Given the description of an element on the screen output the (x, y) to click on. 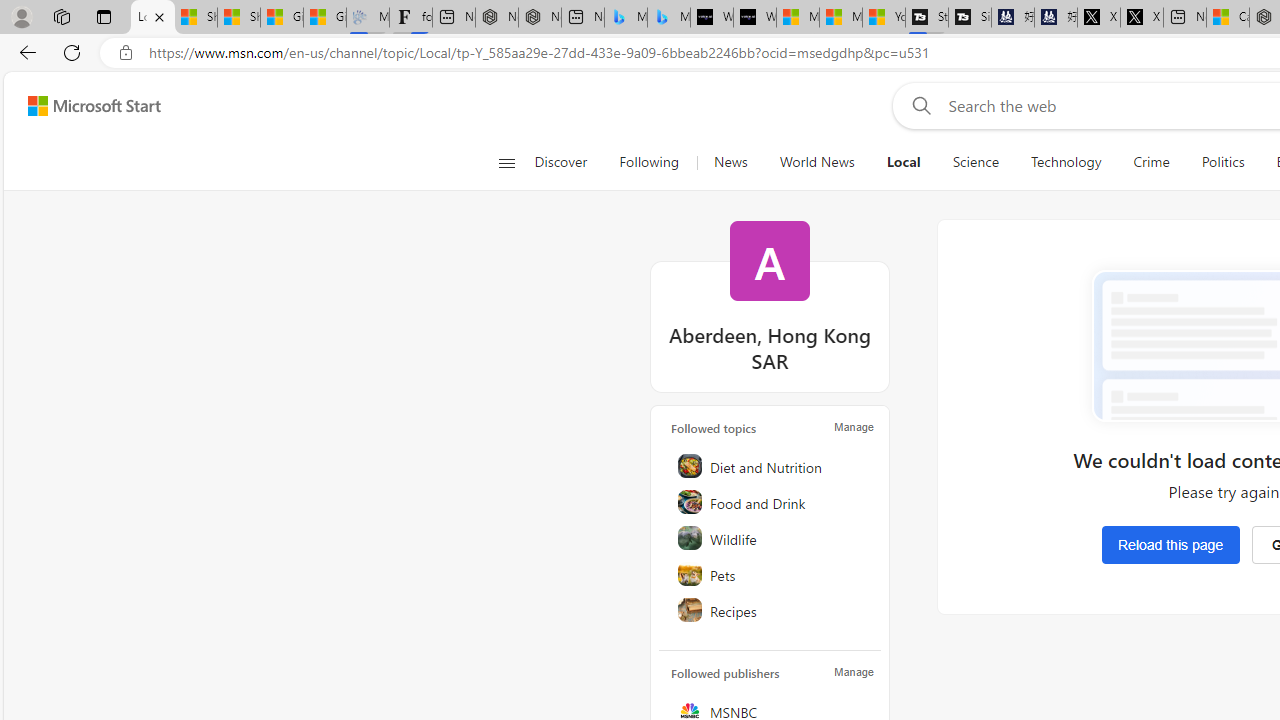
Diet and Nutrition (771, 465)
Science (975, 162)
Reload this page (1170, 544)
Local (903, 162)
Manage (854, 671)
Crime (1151, 162)
Open navigation menu (506, 162)
